Given the description of an element on the screen output the (x, y) to click on. 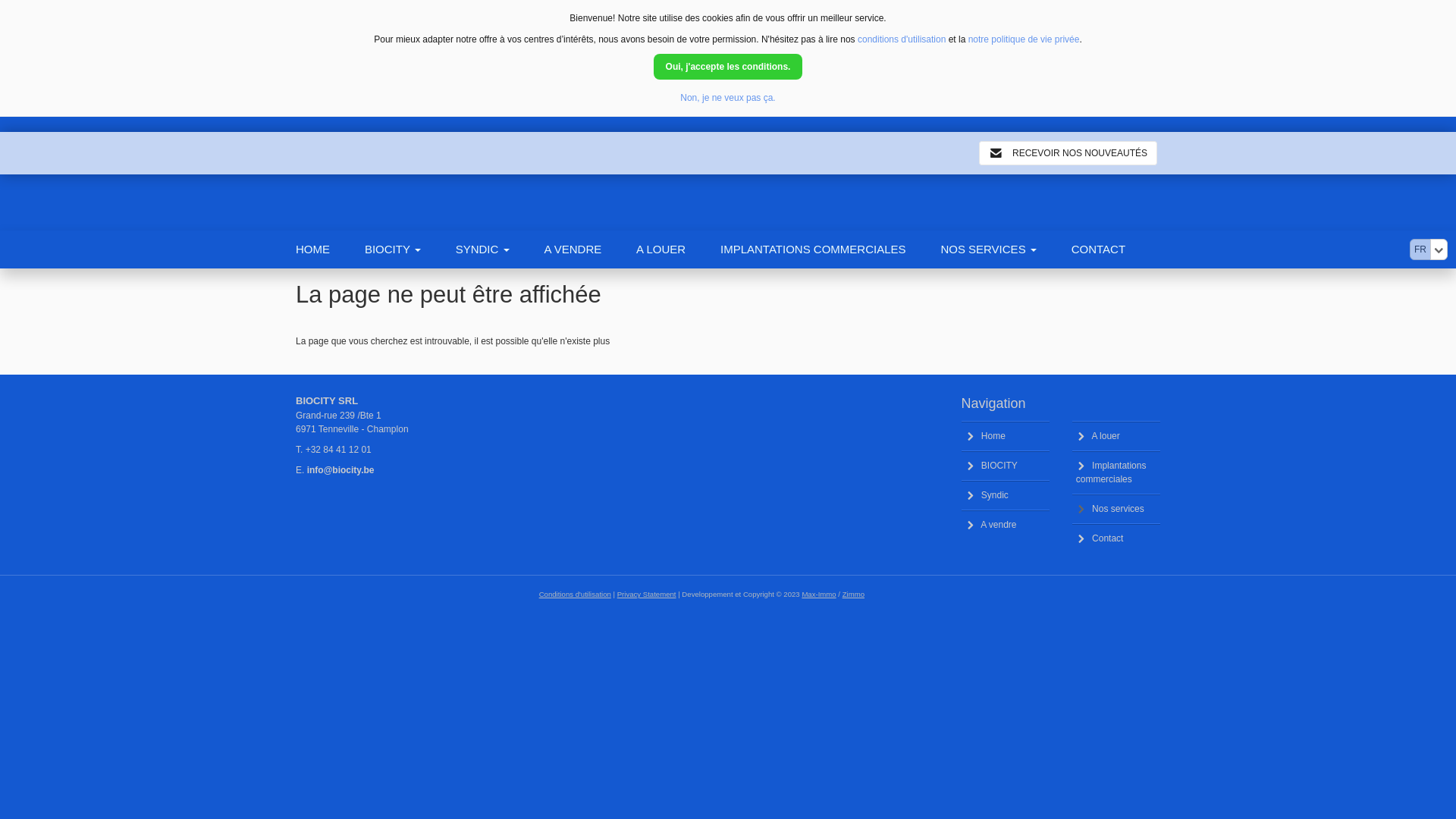
Oui, j'accepte les conditions. Element type: text (728, 66)
BIOCITY Element type: text (409, 249)
Home Element type: text (1005, 435)
HOME Element type: text (329, 249)
info@biocity.be Element type: text (340, 469)
A vendre Element type: text (1005, 524)
Syndic Element type: text (1005, 494)
Zimmo Element type: text (853, 593)
conditions d'utilisation Element type: text (901, 39)
Privacy Statement Element type: text (646, 593)
A VENDRE Element type: text (589, 249)
A louer Element type: text (1116, 435)
BIOCITY Element type: text (1005, 465)
Contact Element type: text (1116, 538)
SYNDIC Element type: text (499, 249)
CONTACT Element type: text (1115, 249)
NOS SERVICES Element type: text (1005, 249)
FR Element type: text (1419, 249)
IMPLANTATIONS COMMERCIALES Element type: text (830, 249)
Implantations commerciales Element type: text (1116, 472)
A LOUER Element type: text (678, 249)
Max-Immo Element type: text (818, 593)
Conditions d'utilisation Element type: text (575, 593)
